Given the description of an element on the screen output the (x, y) to click on. 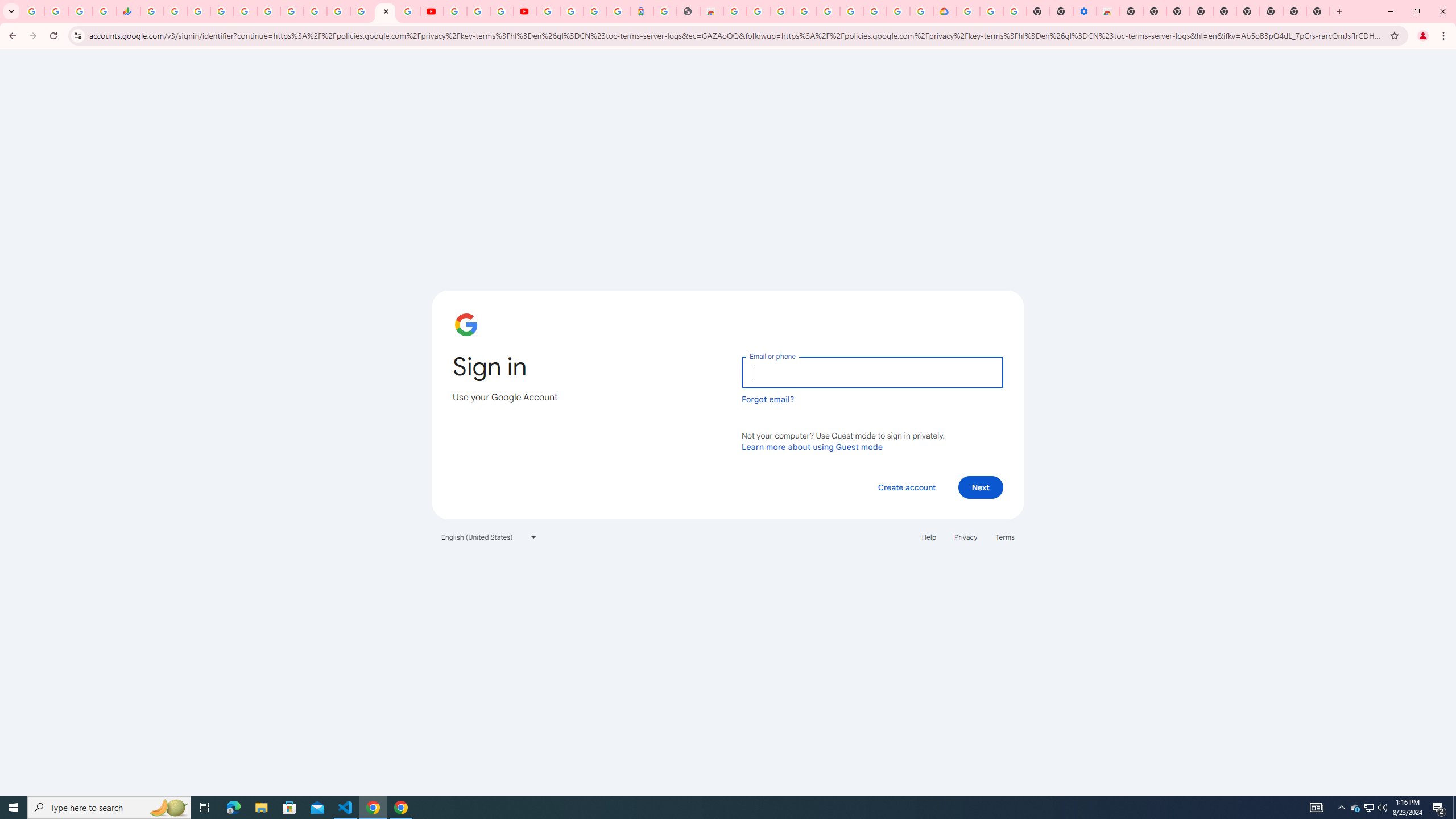
YouTube (454, 11)
Create your Google Account (897, 11)
Content Creator Programs & Opportunities - YouTube Creators (524, 11)
Next (980, 486)
Browse the Google Chrome Community - Google Chrome Community (921, 11)
